Given the description of an element on the screen output the (x, y) to click on. 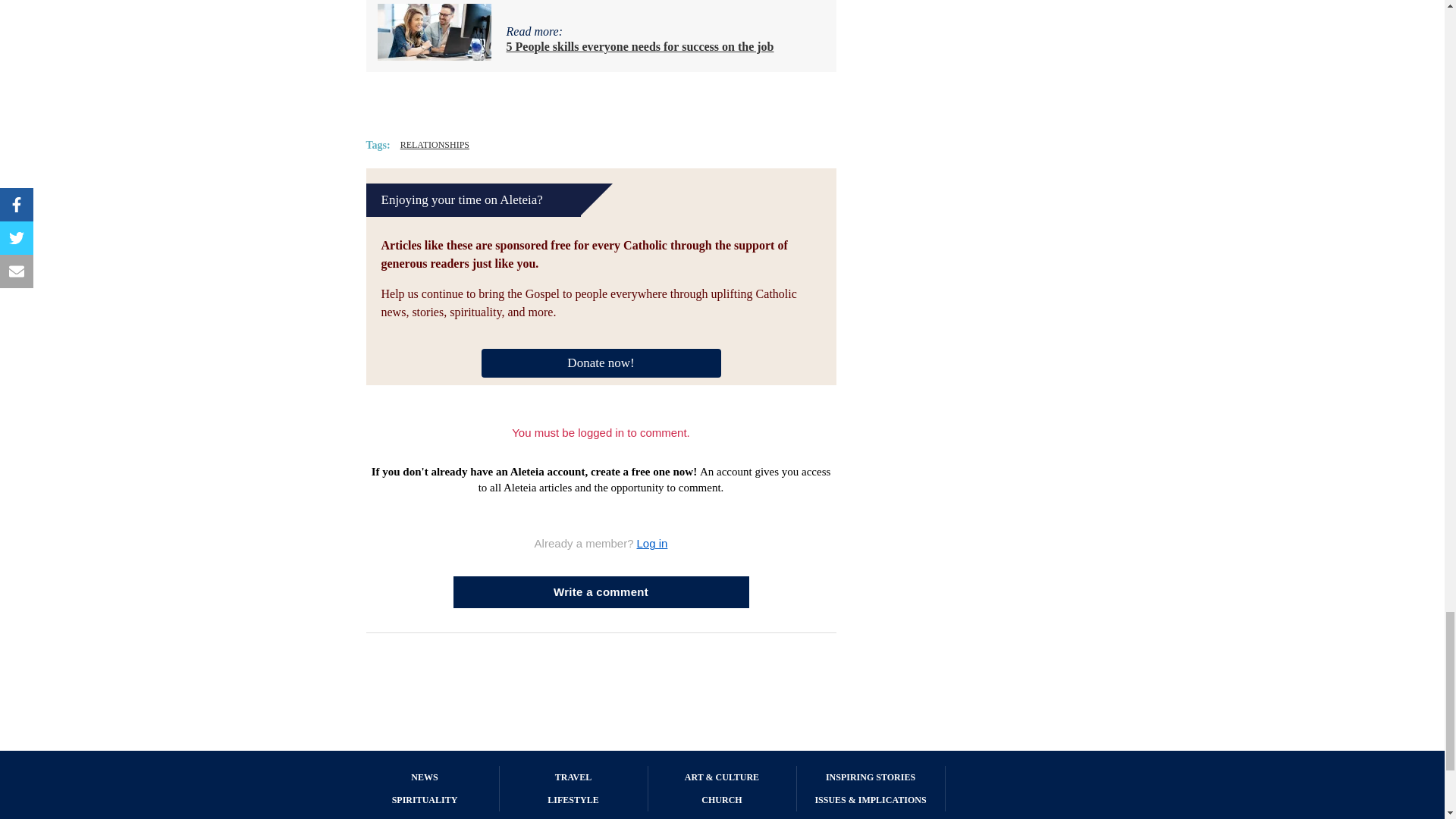
5 People skills everyone needs for success on the job (640, 46)
